Given the description of an element on the screen output the (x, y) to click on. 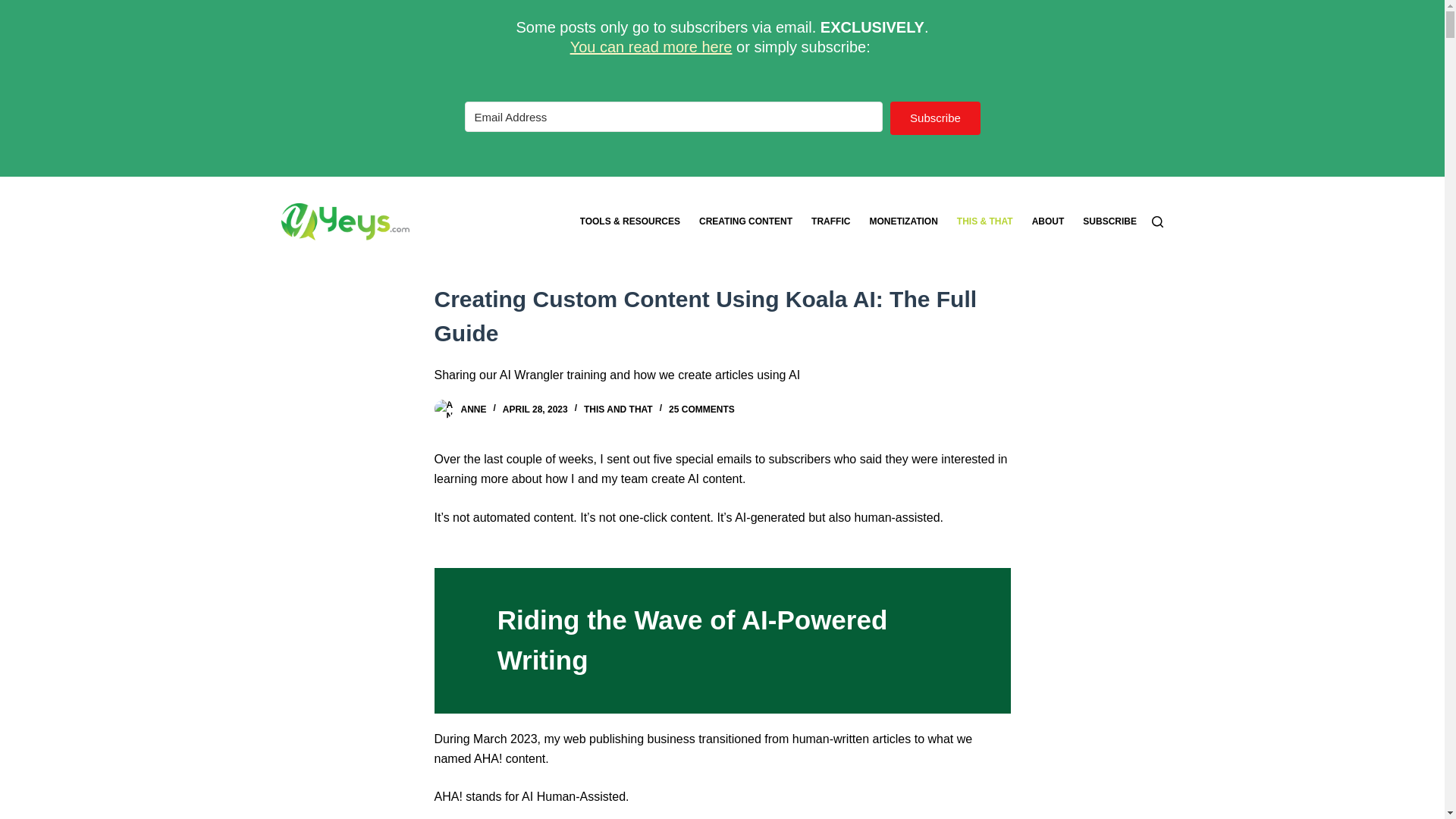
Posts by Anne (473, 409)
Subscribe (934, 118)
Creating Custom Content Using Koala AI: The Full Guide (721, 315)
You can read more here (651, 45)
THIS AND THAT (617, 409)
Skip to content (15, 7)
MONETIZATION (903, 221)
25 COMMENTS (701, 409)
CREATING CONTENT (745, 221)
ANNE (473, 409)
